Given the description of an element on the screen output the (x, y) to click on. 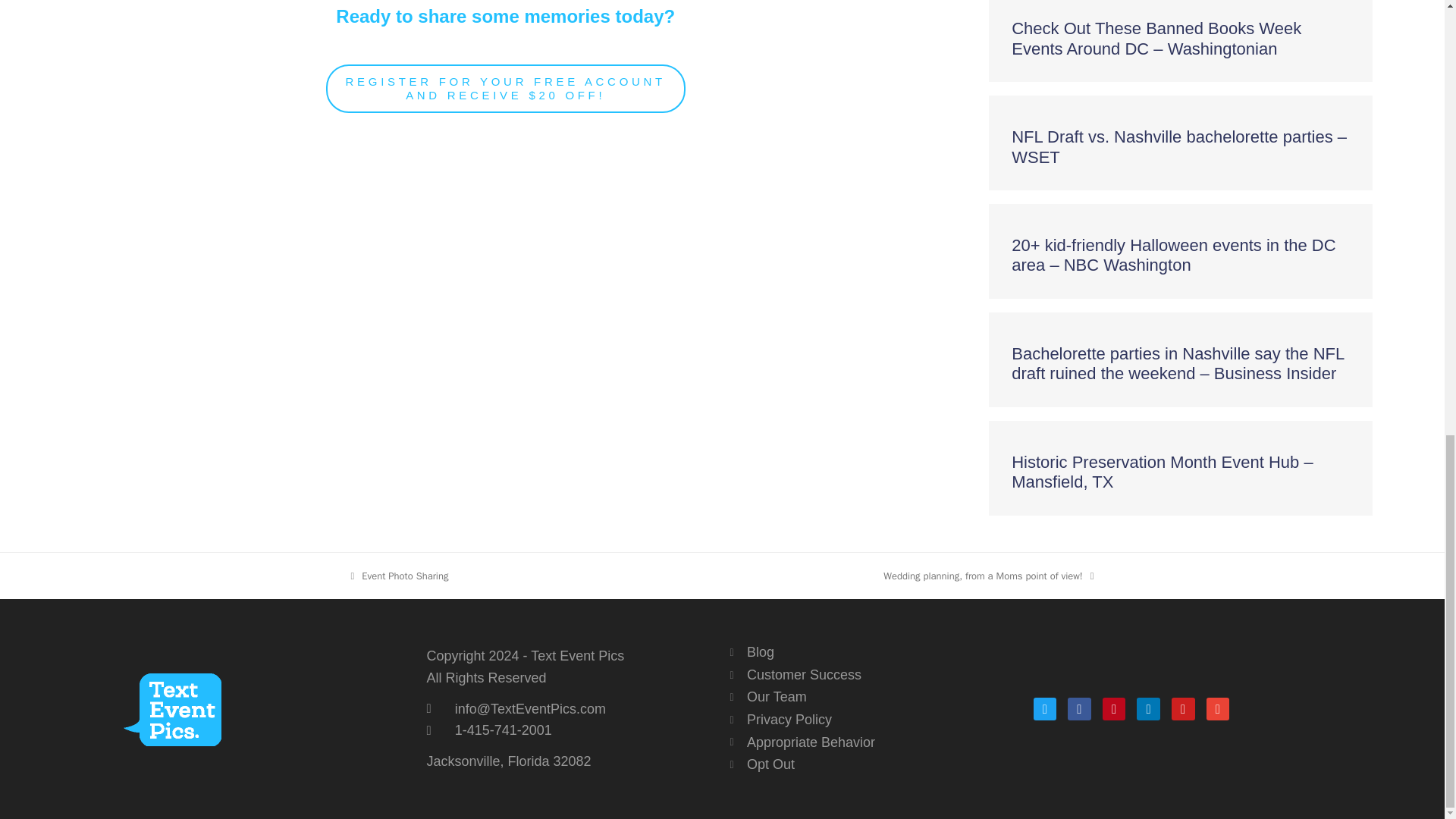
Our Team (873, 697)
Privacy Policy (873, 719)
Opt Out (873, 764)
Appropriate Behavior (873, 742)
Event Photo Sharing (399, 575)
1-415-741-2001 (570, 730)
Wedding planning, from a Moms point of view! (988, 575)
Customer Success (873, 675)
Blog (873, 652)
